Given the description of an element on the screen output the (x, y) to click on. 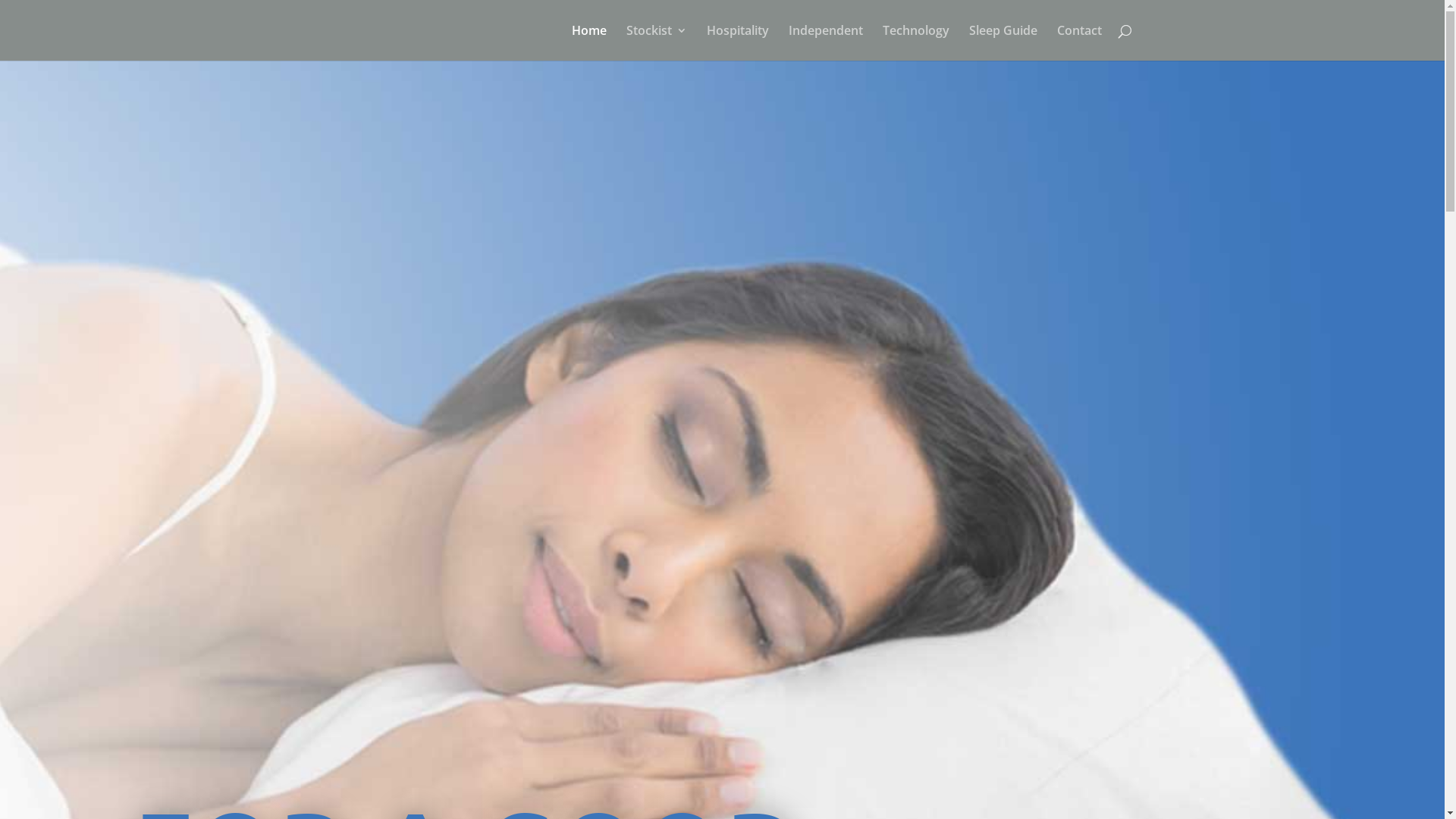
Technology Element type: text (915, 42)
Hospitality Element type: text (737, 42)
Stockist Element type: text (656, 42)
Home Element type: text (588, 42)
Independent Element type: text (825, 42)
Contact Element type: text (1079, 42)
Sleep Guide Element type: text (1003, 42)
